Given the description of an element on the screen output the (x, y) to click on. 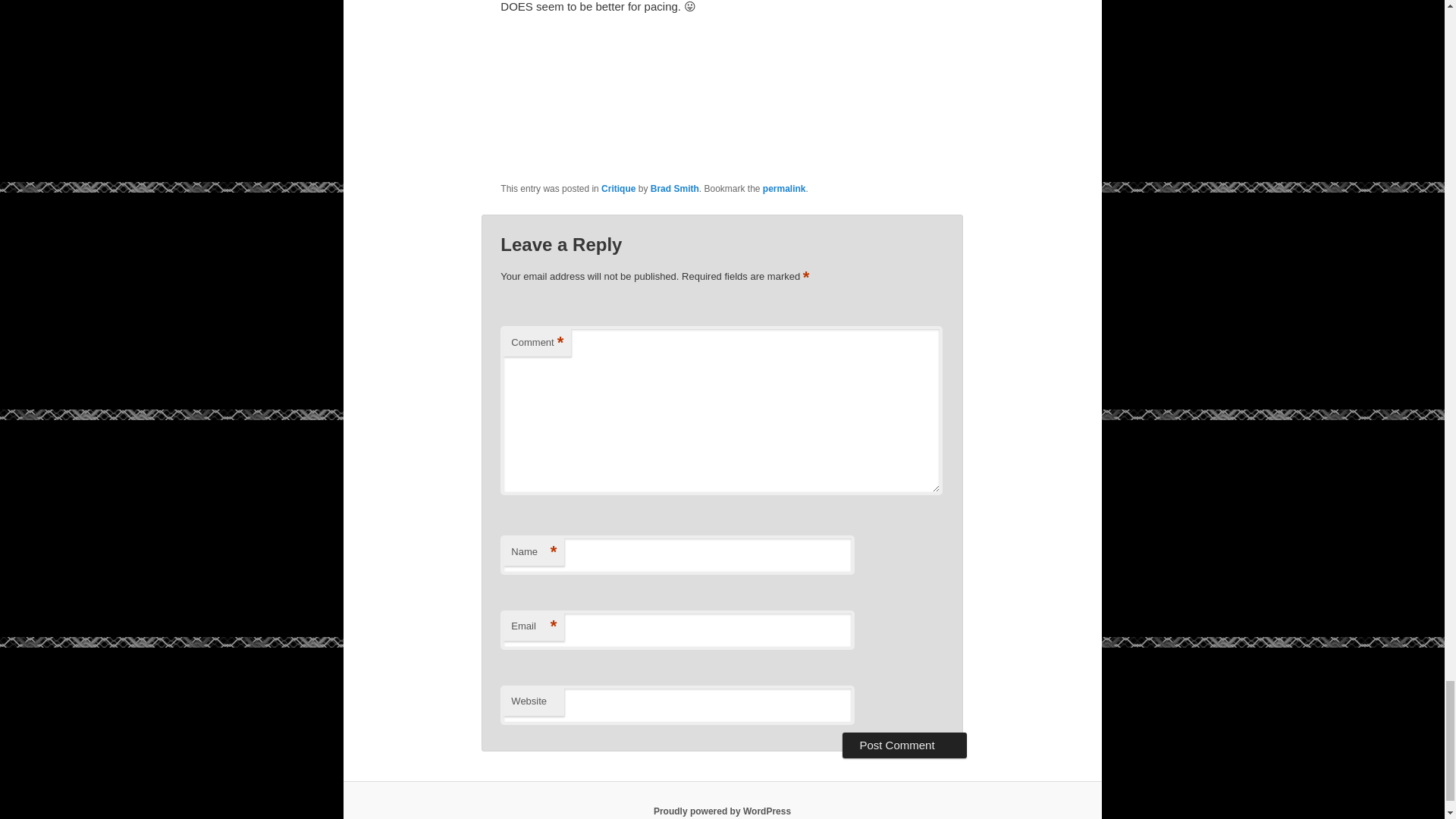
Brad Smith (674, 188)
Proudly powered by WordPress (721, 810)
Permalink to Kim Roasts Abandonment Party: Chapter 3 (784, 188)
Critique (617, 188)
Semantic Personal Publishing Platform (721, 810)
permalink (784, 188)
Post Comment (904, 745)
Post Comment (904, 745)
